Given the description of an element on the screen output the (x, y) to click on. 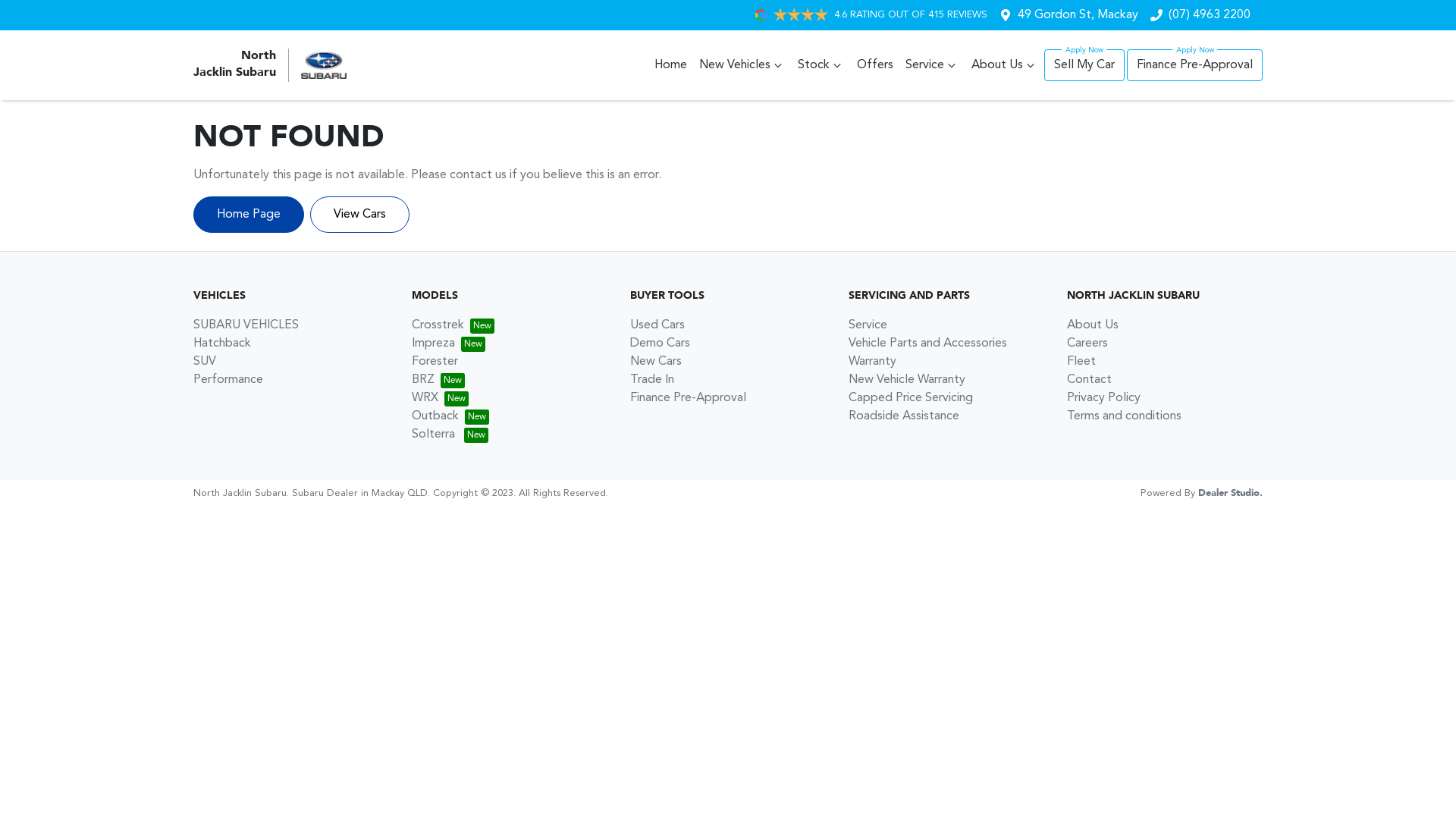
Privacy Policy Element type: text (1103, 398)
Dealer Studio. Element type: text (1230, 493)
Finance Pre-Approval Element type: text (1194, 65)
Hatchback Element type: text (222, 343)
Forester Element type: text (434, 361)
About Us Element type: text (1004, 65)
SUV Element type: text (204, 361)
North
Jacklin Subaru Element type: text (269, 65)
49 Gordon St, Mackay Element type: text (1077, 15)
SUBARU VEHICLES Element type: text (245, 325)
View Cars Element type: text (359, 214)
Vehicle Parts and Accessories Element type: text (927, 343)
Solterra Element type: text (449, 434)
Home Element type: text (670, 65)
Careers Element type: text (1086, 343)
Service Element type: text (867, 325)
New Cars Element type: text (655, 361)
(07) 4963 2200 Element type: text (1209, 15)
Demo Cars Element type: text (660, 343)
Roadside Assistance Element type: text (903, 416)
Trade In Element type: text (652, 379)
Crosstrek Element type: text (452, 325)
Capped Price Servicing Element type: text (910, 398)
BRZ Element type: text (437, 379)
Outback Element type: text (450, 416)
Fleet Element type: text (1080, 361)
Contact Element type: text (1088, 379)
Terms and conditions Element type: text (1123, 416)
WRX Element type: text (439, 398)
Impreza Element type: text (448, 343)
New Vehicles Element type: text (742, 65)
Home Page Element type: text (248, 214)
New Vehicle Warranty Element type: text (906, 379)
Performance Element type: text (228, 379)
About Us Element type: text (1092, 325)
Service Element type: text (932, 65)
Offers Element type: text (874, 65)
Stock Element type: text (820, 65)
Warranty Element type: text (872, 361)
Finance Pre-Approval Element type: text (688, 398)
Used Cars Element type: text (657, 325)
Sell My Car Element type: text (1084, 65)
